Given the description of an element on the screen output the (x, y) to click on. 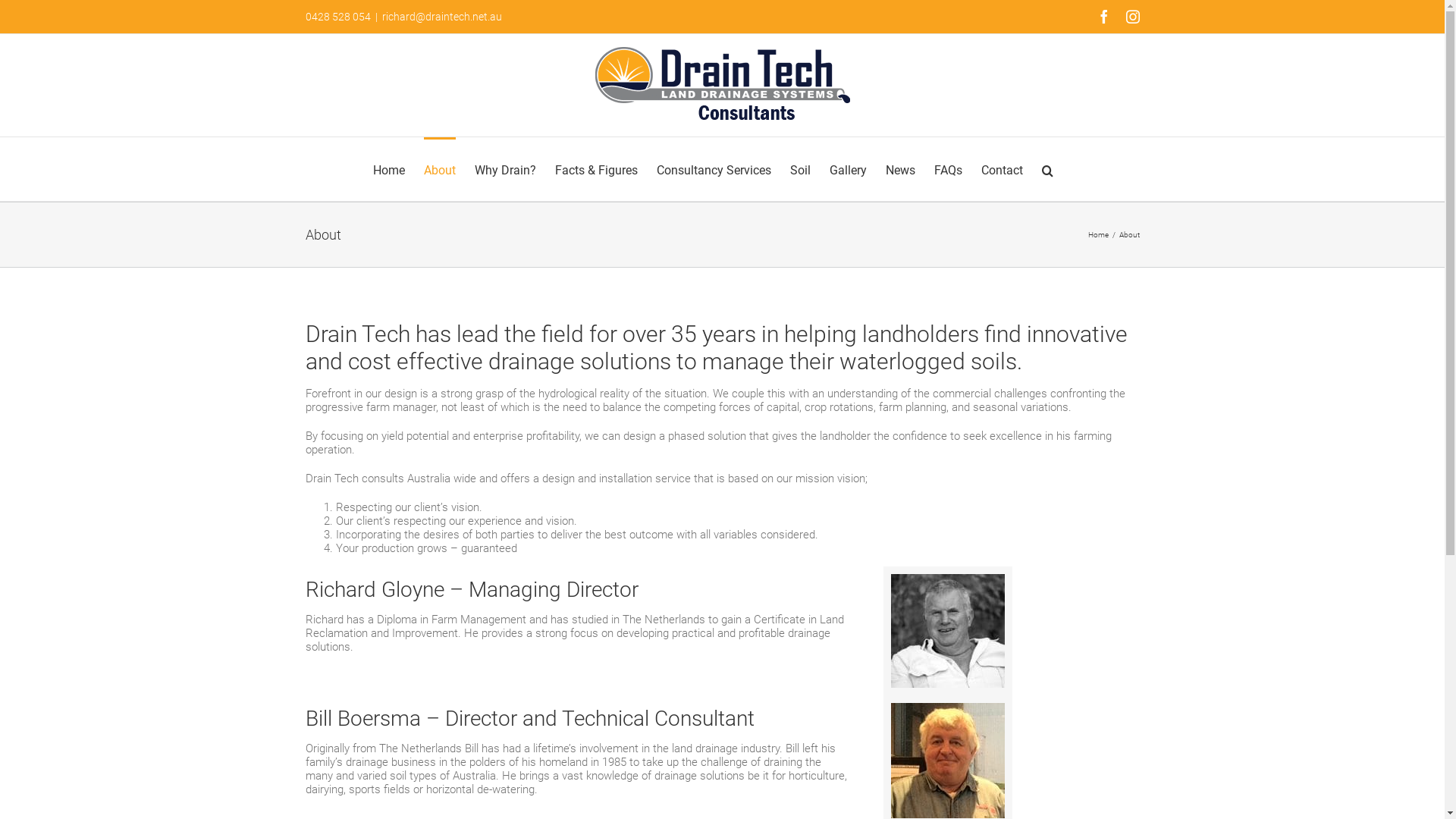
Search Element type: hover (1047, 168)
News Element type: text (900, 168)
Facebook Element type: text (1103, 16)
richard@draintech.net.au Element type: text (442, 16)
Home Element type: text (388, 168)
Facts & Figures Element type: text (596, 168)
Gallery Element type: text (847, 168)
Home Element type: text (1097, 234)
Bill-Boersma-profile Element type: hover (947, 760)
Instagram Element type: text (1132, 16)
About Element type: text (439, 168)
Soil Element type: text (800, 168)
Consultancy Services Element type: text (713, 168)
Contact Element type: text (1001, 168)
FAQs Element type: text (948, 168)
Richard-Gloyne-profile Element type: hover (947, 630)
Why Drain? Element type: text (505, 168)
